Given the description of an element on the screen output the (x, y) to click on. 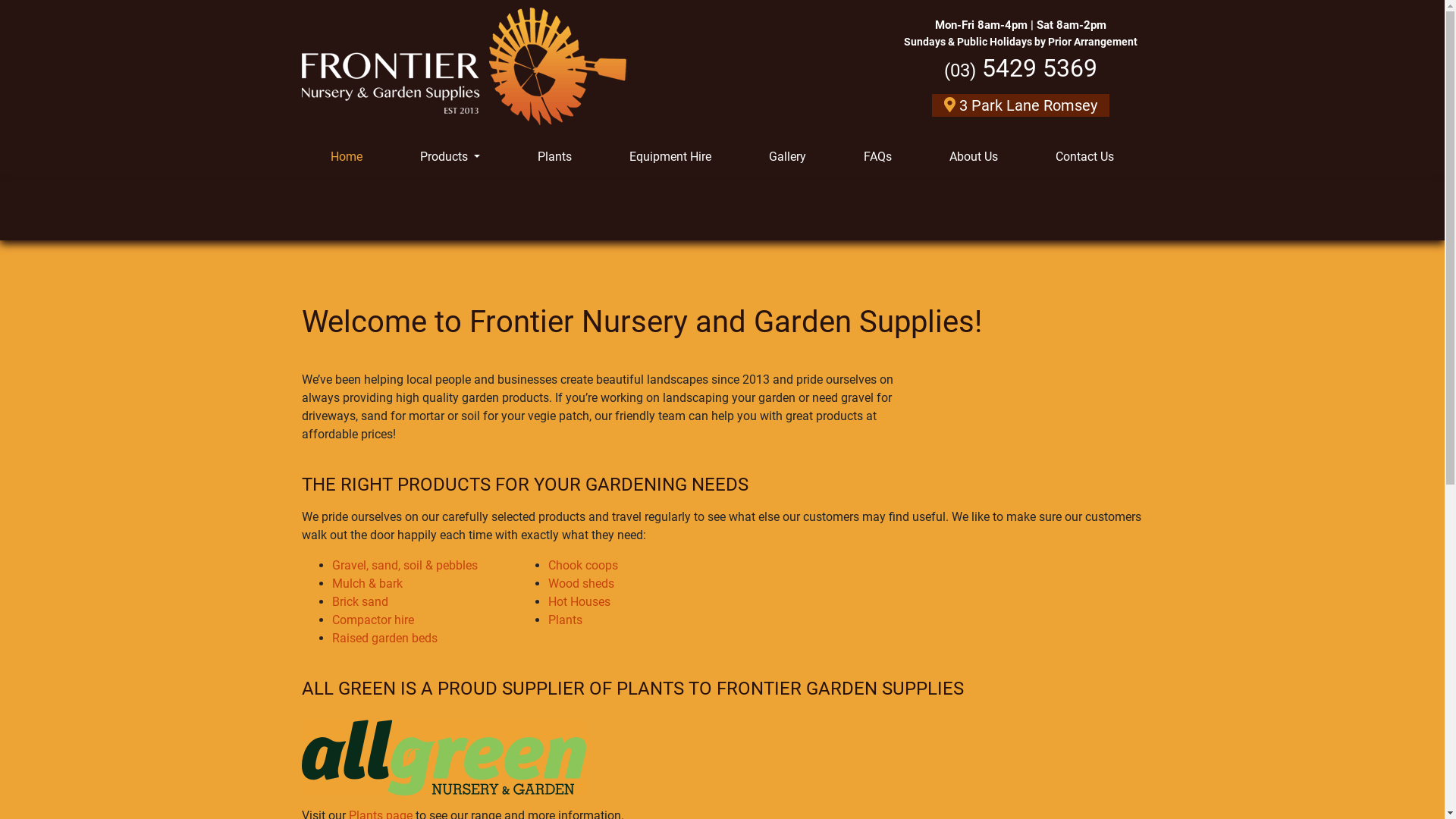
Equipment Hire Element type: text (670, 156)
Products Element type: text (449, 156)
Home Element type: text (346, 156)
Brick sand Element type: text (360, 601)
3 Park Lane Romsey Element type: text (1019, 105)
Gallery Element type: text (787, 156)
Chook coops Element type: text (582, 565)
Raised garden beds Element type: text (384, 637)
Mulch & bark Element type: text (367, 583)
Gravel, sand, soil & pebbles Element type: text (404, 565)
Plants Element type: text (554, 156)
Wood sheds Element type: text (580, 583)
About Us Element type: text (973, 156)
Compactor hire Element type: text (373, 619)
Hot Houses Element type: text (578, 601)
Plants Element type: text (564, 619)
(03) 5429 5369 Element type: text (1019, 68)
FAQs Element type: text (877, 156)
Mon-Fri 8am-4pm | Sat 8am-2pm Element type: text (1019, 25)
Contact Us Element type: text (1084, 156)
